Given the description of an element on the screen output the (x, y) to click on. 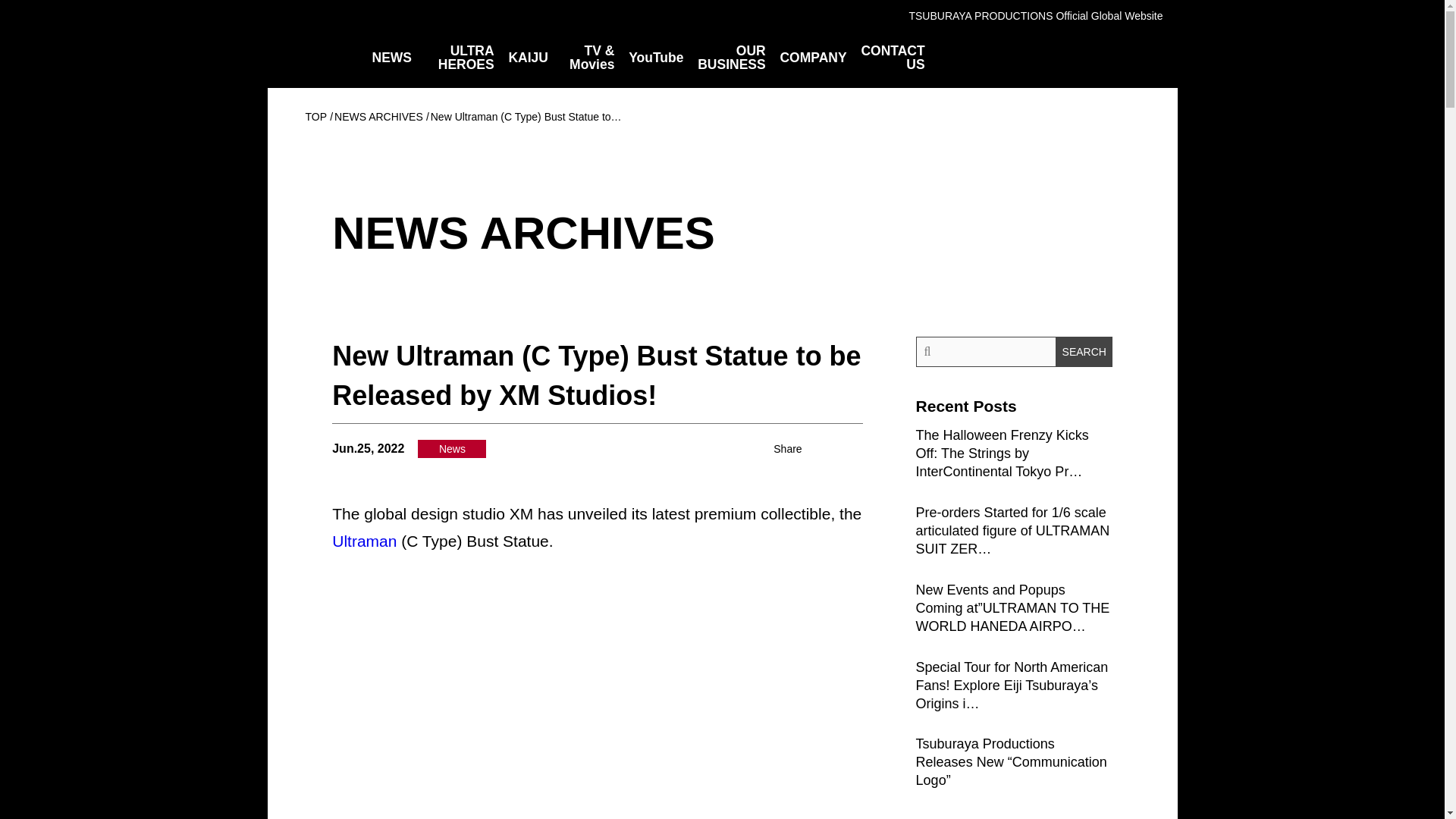
TOP (315, 116)
YouTube (655, 58)
NEWS ARCHIVES (378, 116)
KAIJU (528, 58)
ULTRA HEROES (460, 58)
Ultraman (363, 540)
CONTACT US (892, 58)
NEWS (391, 58)
OUR BUSINESS (731, 58)
COMPANY (811, 58)
